Given the description of an element on the screen output the (x, y) to click on. 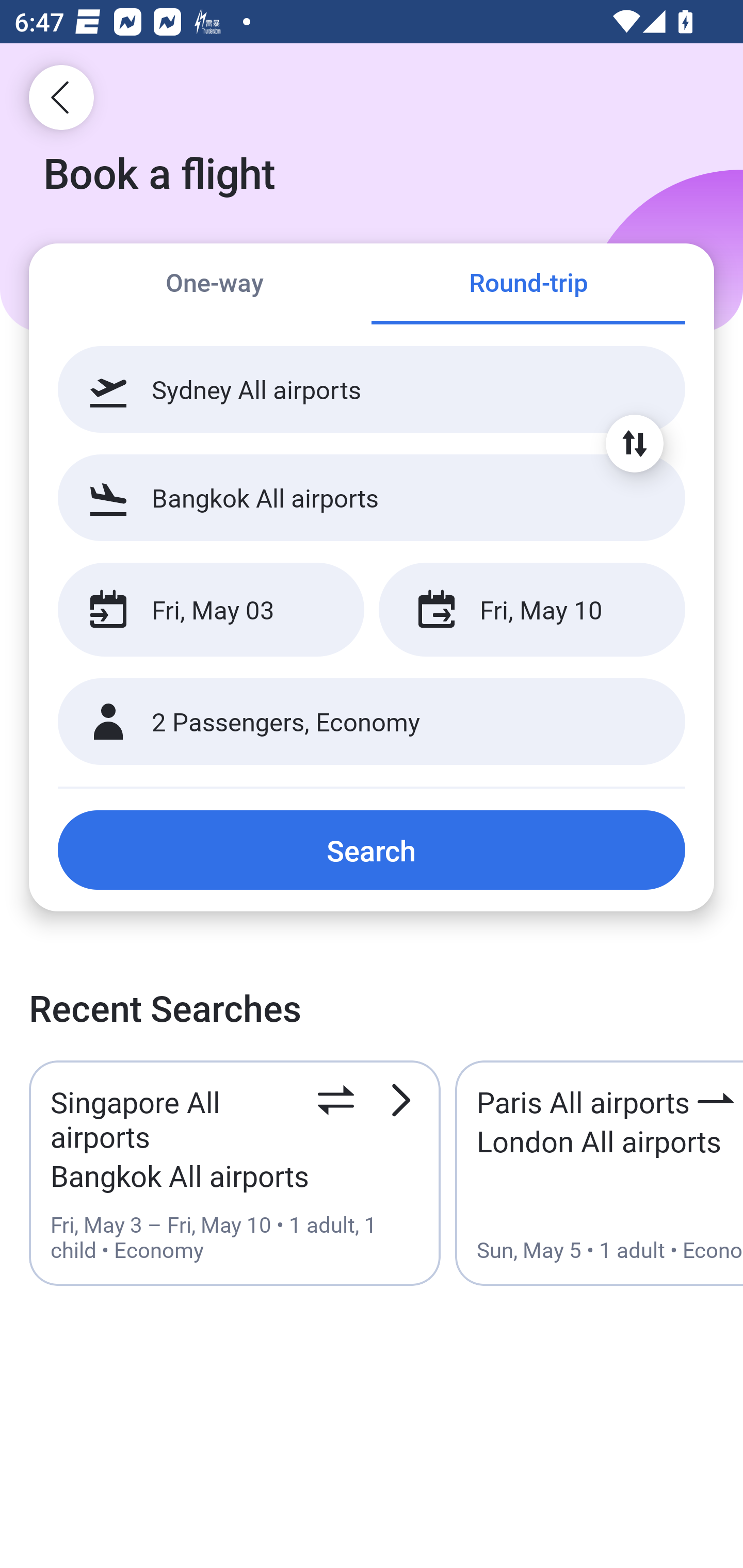
One-way (214, 284)
Sydney All airports (371, 389)
Bangkok All airports (371, 497)
Fri, May 03 (210, 609)
Fri, May 10 (531, 609)
2 Passengers, Economy (371, 721)
Search (371, 849)
